Given the description of an element on the screen output the (x, y) to click on. 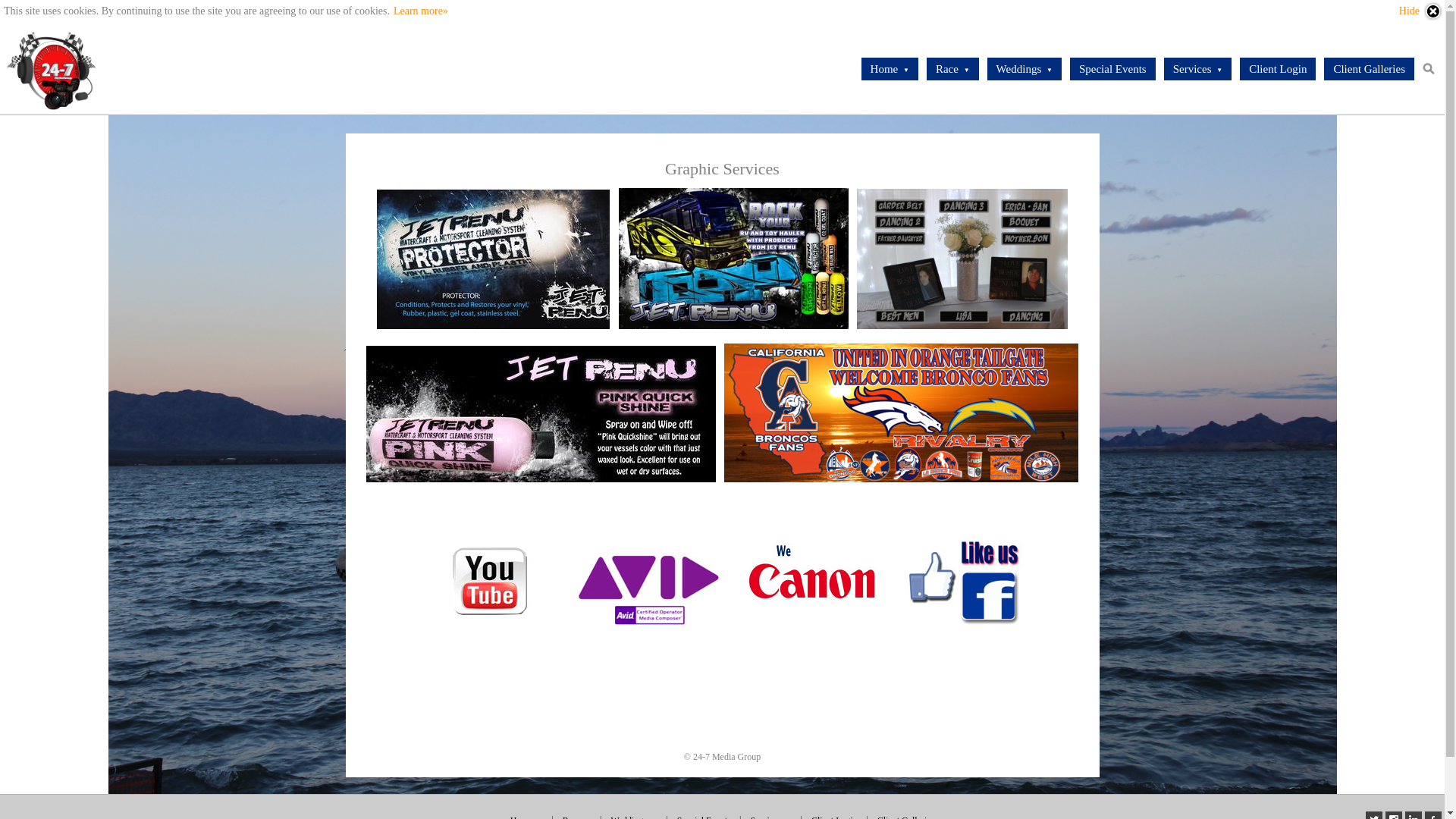
Hide Element type: text (1420, 11)
24-7 Media Group Element type: hover (51, 68)
Client Login Element type: text (1277, 68)
Client Galleries Element type: text (1369, 68)
Special Events Element type: text (1112, 68)
